Given the description of an element on the screen output the (x, y) to click on. 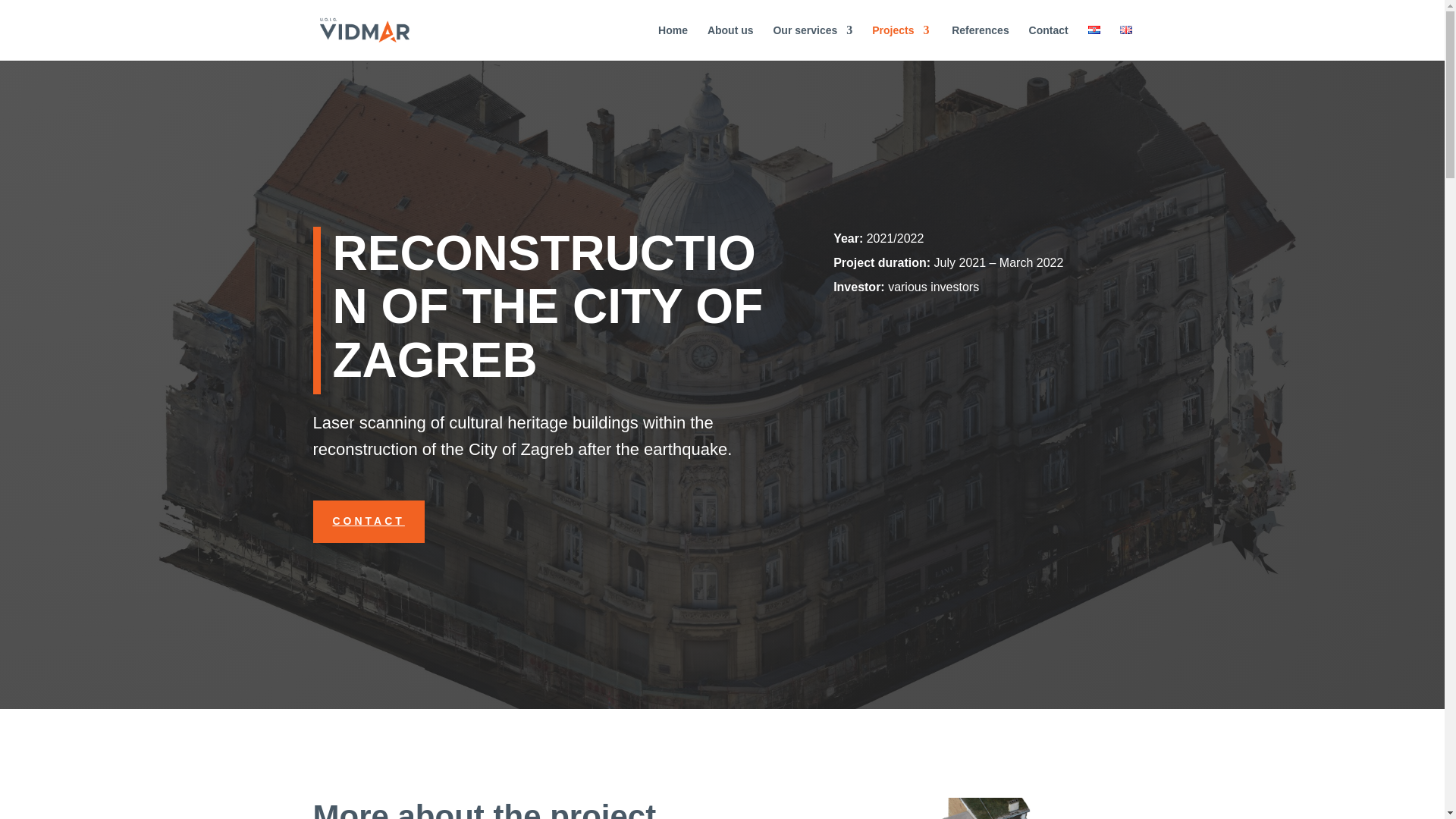
Our services (812, 42)
Projects (900, 42)
Contact (1048, 42)
 References (979, 42)
About us (730, 42)
